Given the description of an element on the screen output the (x, y) to click on. 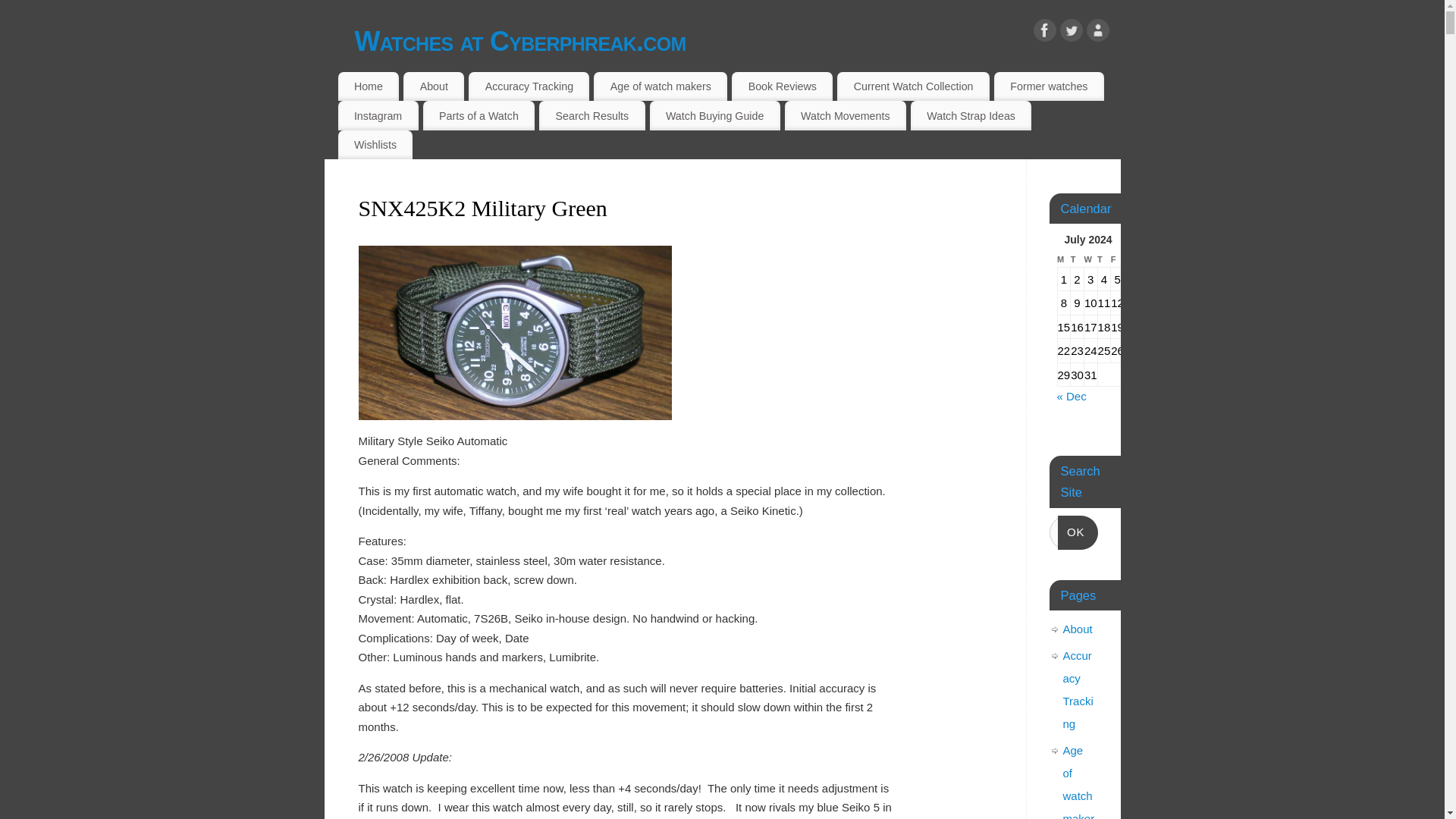
Thursday (1103, 259)
Home (367, 86)
Tuesday (1077, 259)
Book Reviews (782, 86)
Friday (1117, 259)
Current Watch Collection (913, 86)
Age of watch makers (660, 86)
Watches at Cyberphreak.com (738, 41)
Accuracy Tracking (528, 86)
Wednesday (1090, 259)
Monday (1063, 259)
Green Watch (514, 254)
Watches at Cyberphreak.com (738, 41)
About (433, 86)
